Given the description of an element on the screen output the (x, y) to click on. 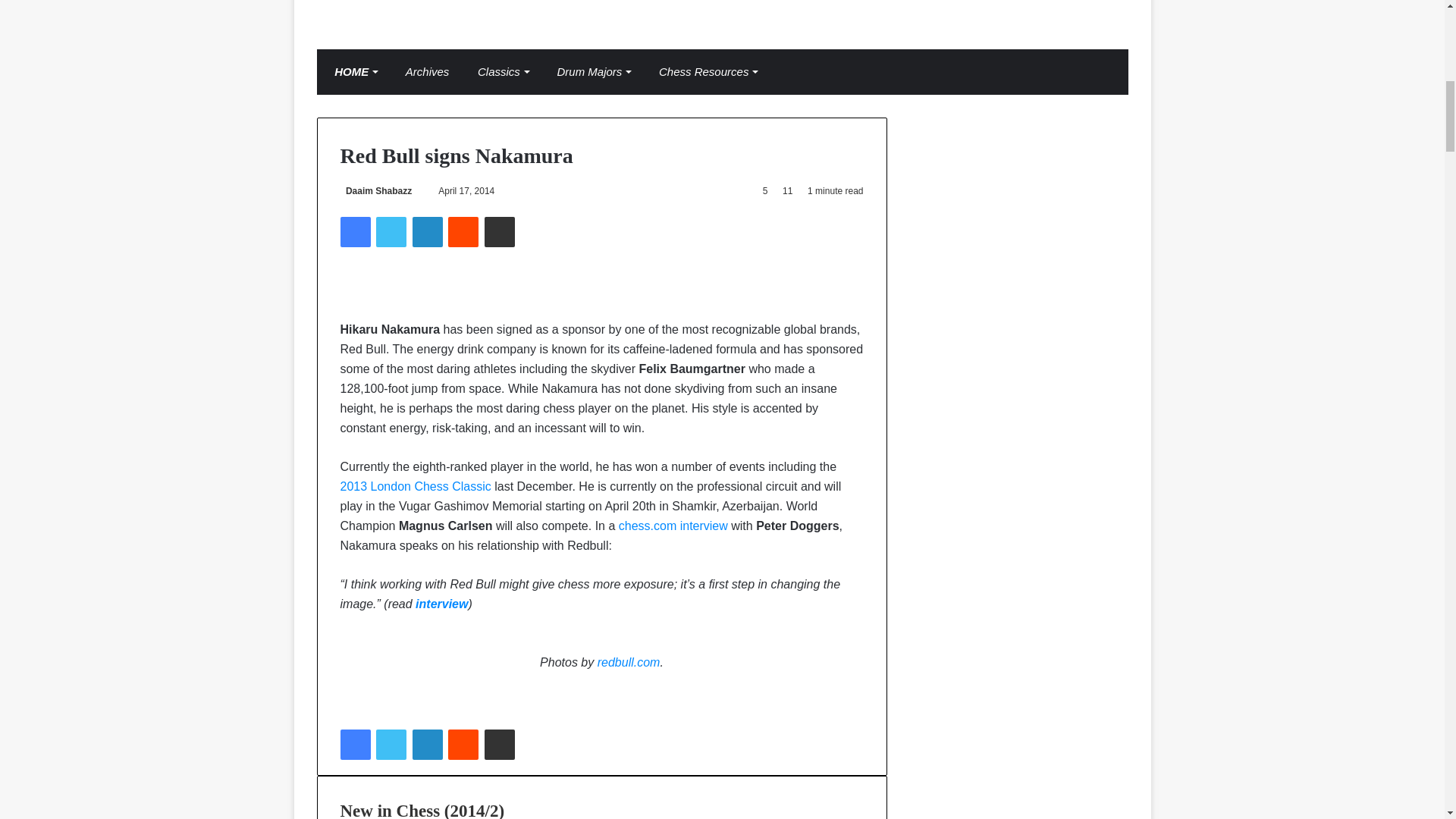
Reddit (463, 232)
Share via Email (499, 232)
Daaim Shabazz (375, 190)
Facebook (354, 232)
2013 London Chess Classic (414, 486)
Drum Majors (590, 72)
Chess Resources (703, 72)
The Chess Drum... thechessdrum.net (722, 15)
Red Bull signs Nakamura (414, 486)
Archives (423, 72)
interview (440, 603)
LinkedIn (427, 232)
Reddit (463, 232)
Twitter (390, 232)
Facebook (354, 232)
